Given the description of an element on the screen output the (x, y) to click on. 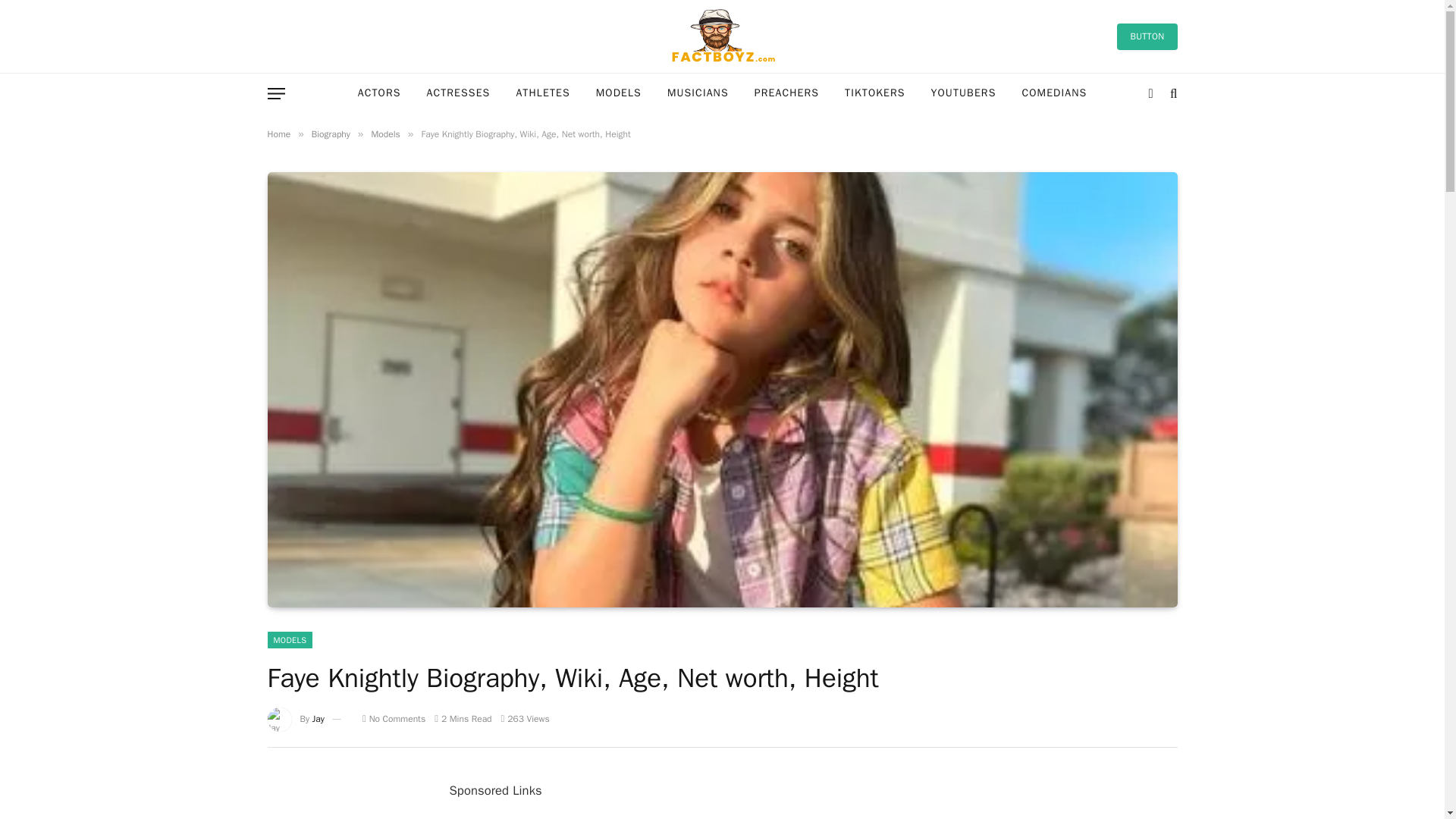
Posts by Jay (318, 718)
No Comments (393, 718)
263 Article Views (525, 718)
Biography (330, 133)
COMEDIANS (1054, 93)
TIKTOKERS (874, 93)
Jay (318, 718)
Switch to Dark Design - easier on eyes. (1150, 92)
Factboyz.com (722, 36)
MUSICIANS (697, 93)
